Given the description of an element on the screen output the (x, y) to click on. 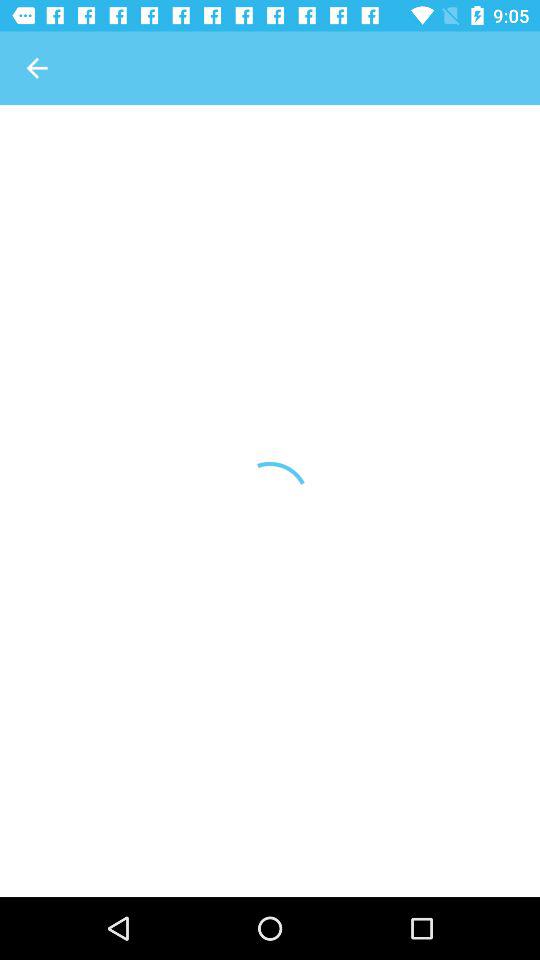
click the icon at the top left corner (36, 68)
